Given the description of an element on the screen output the (x, y) to click on. 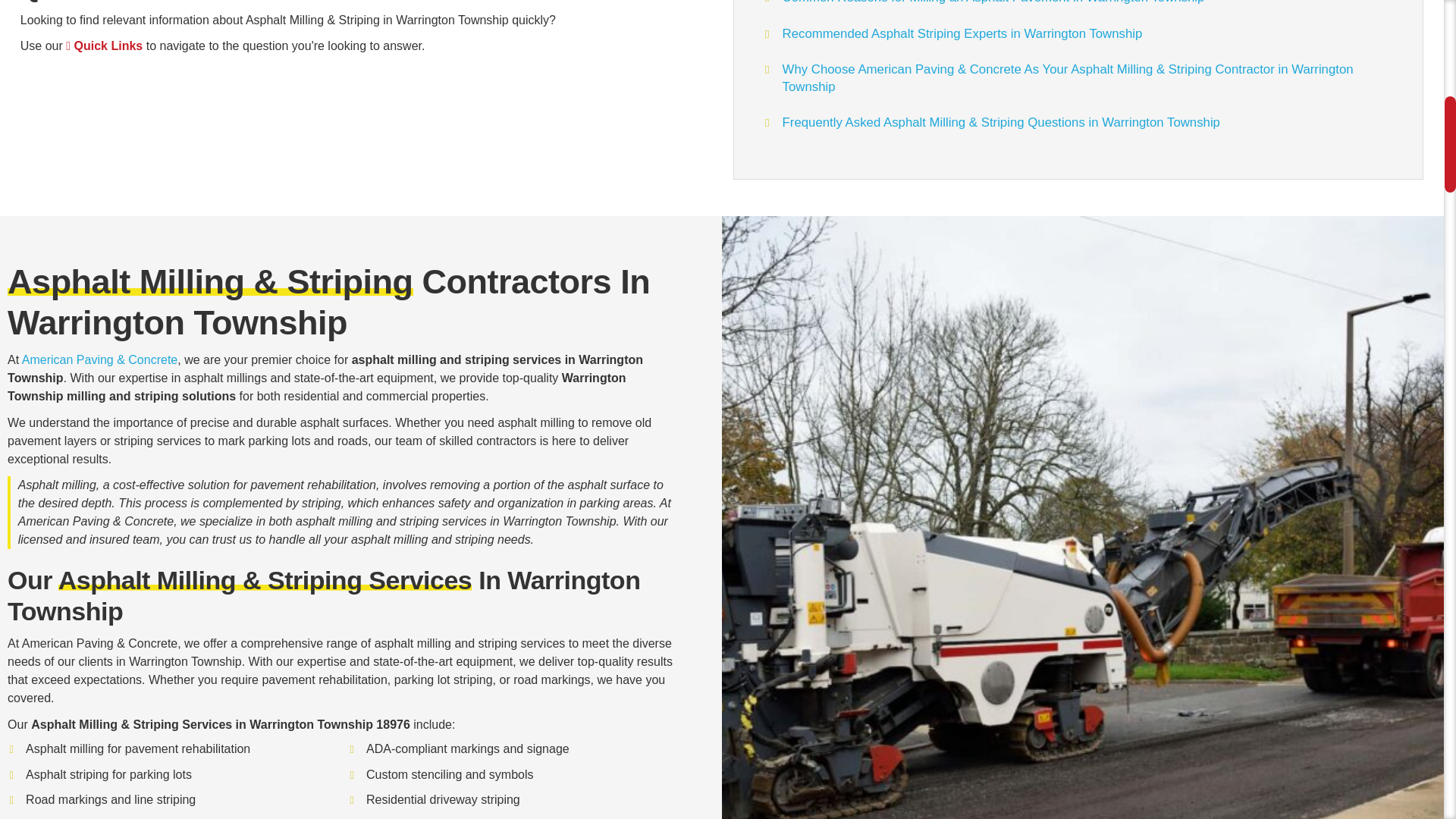
Recommended Asphalt Striping Experts in Warrington Township (962, 32)
